Given the description of an element on the screen output the (x, y) to click on. 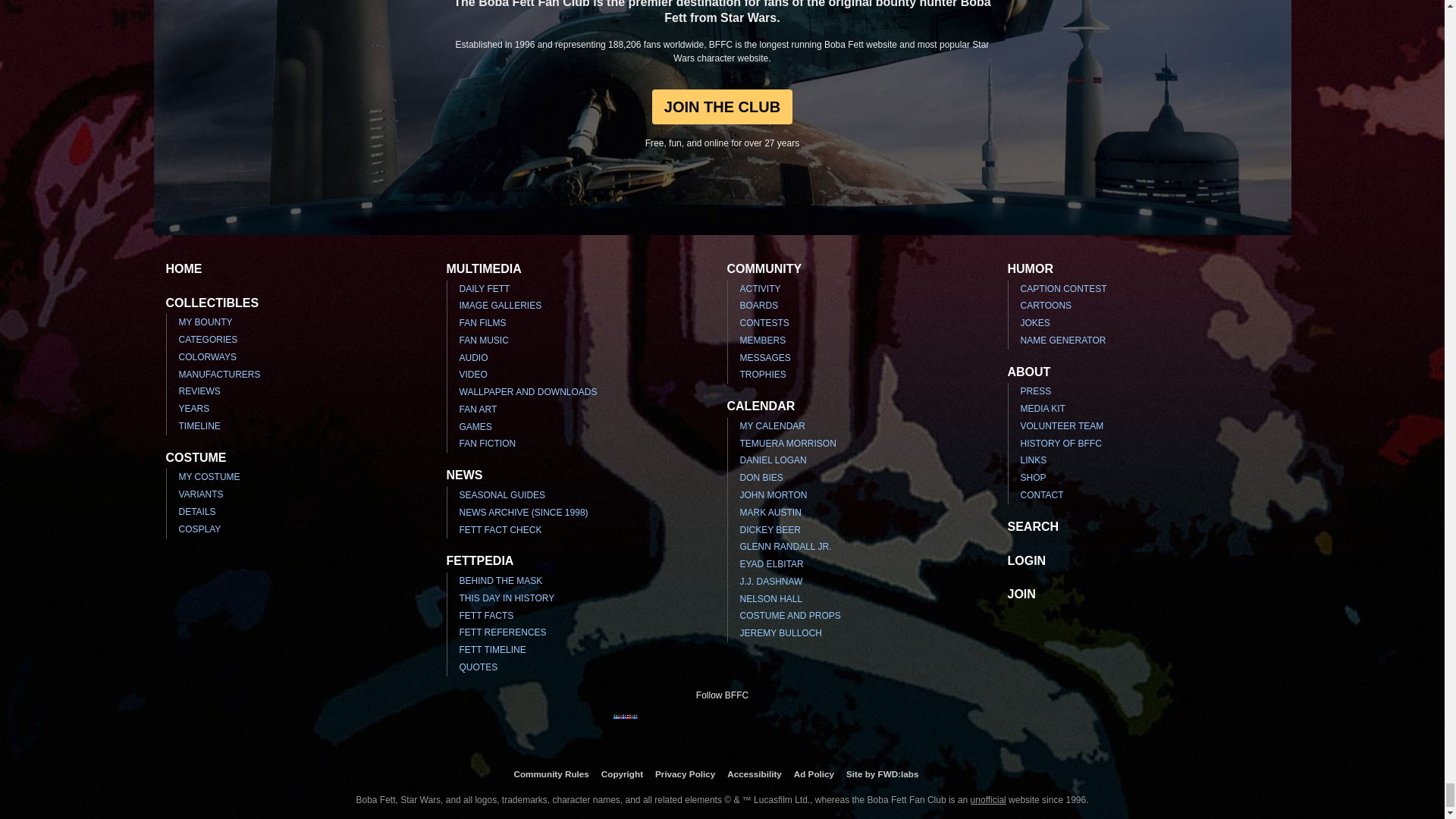
Subscribe to BFFC Videos on YouTube (721, 726)
Follow BFFC on Facebook (624, 726)
Follow BFFC on Twitter (673, 726)
Follow BFFC on Threads (745, 726)
Follow BFFC on Instagram (649, 726)
Follow BFFC on Mastodon (770, 726)
Follow BFFC on Bluesky (794, 726)
Follow BFFC on TikTok (818, 726)
Follow BFFC on Tumblr (697, 726)
